Given the description of an element on the screen output the (x, y) to click on. 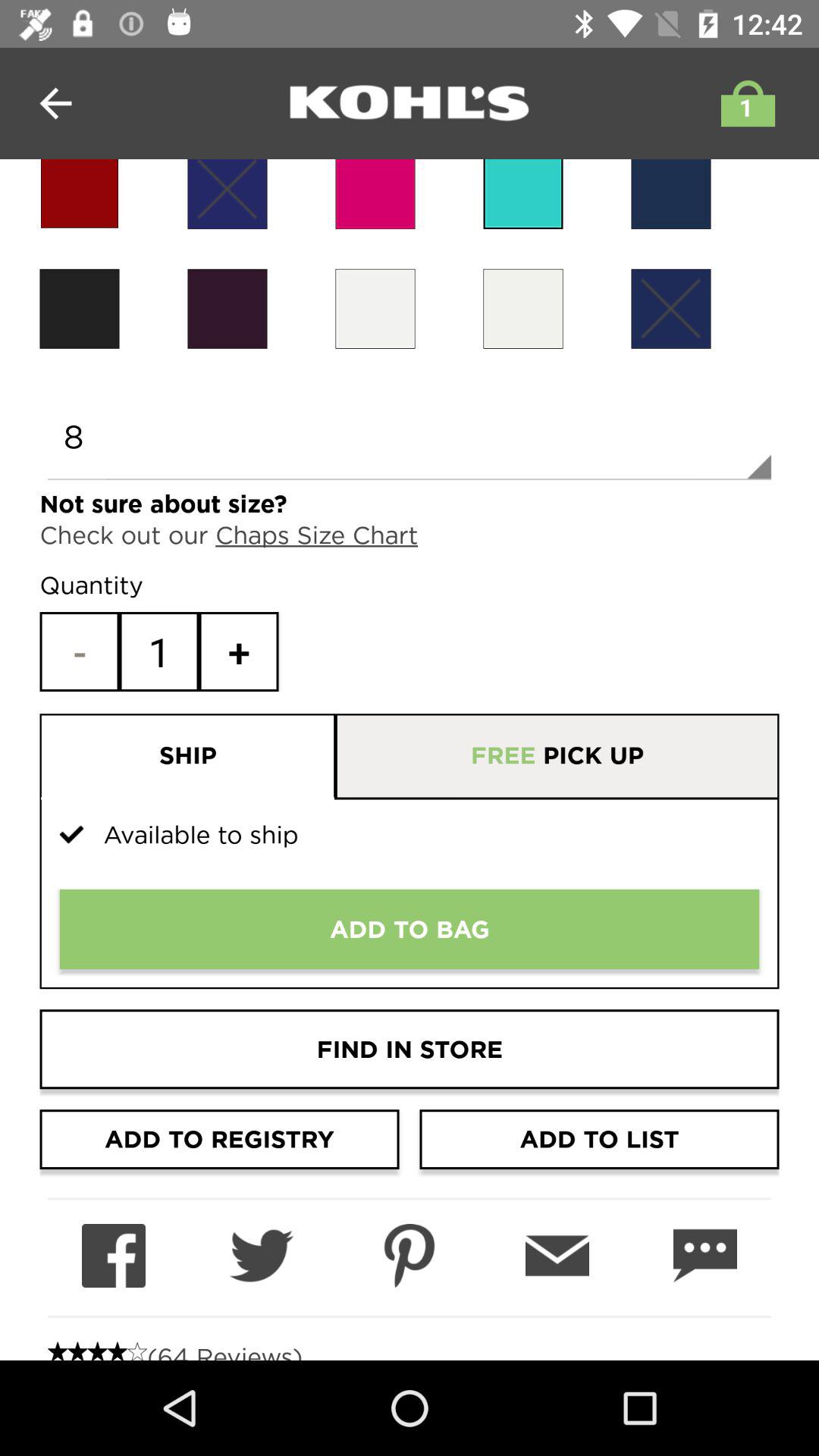
select this shade of color dark blue for the product (670, 194)
